Given the description of an element on the screen output the (x, y) to click on. 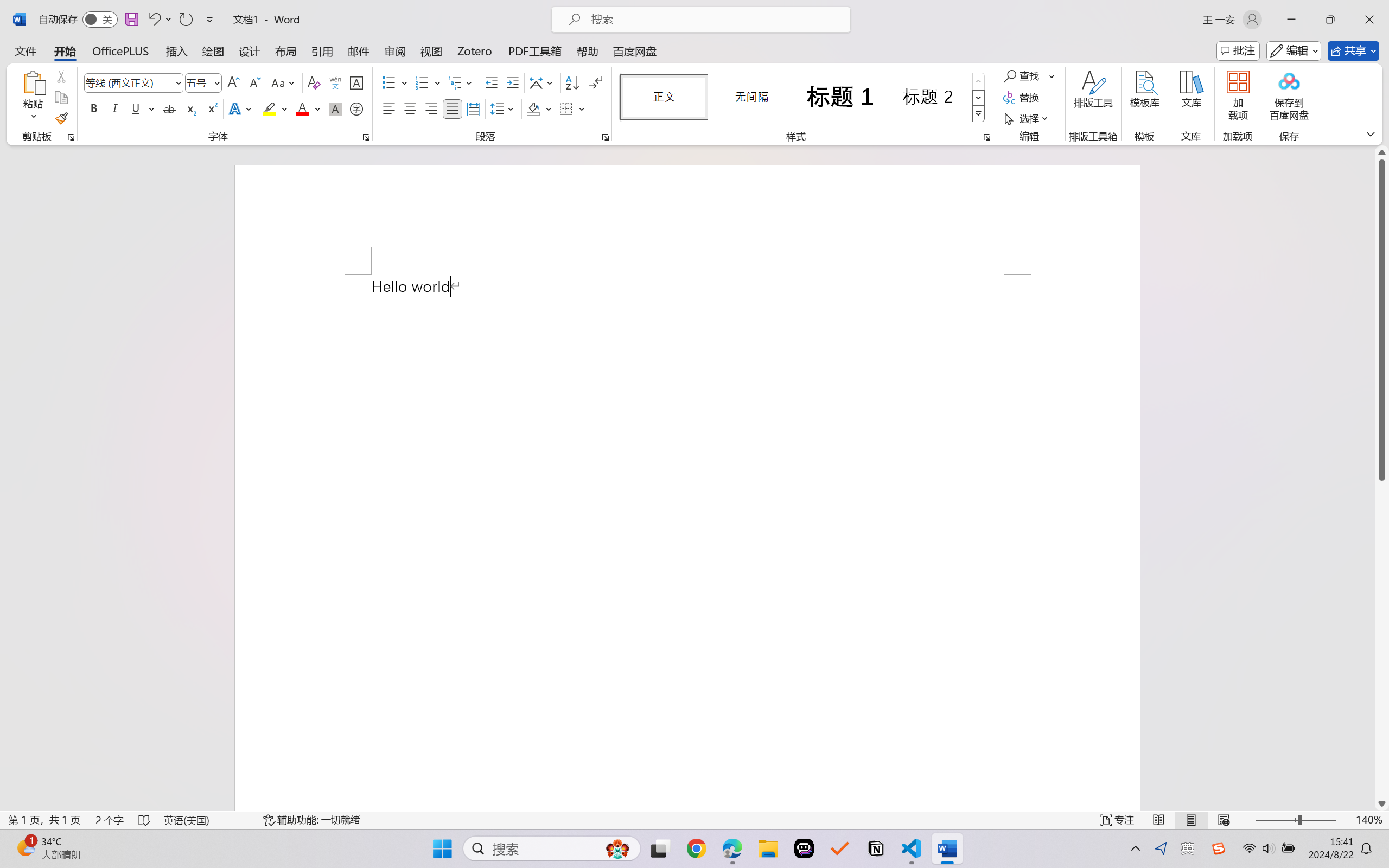
AutomationID: QuickStylesGallery (802, 97)
OfficePLUS (120, 51)
Class: MsoCommandBar (694, 819)
